Given the description of an element on the screen output the (x, y) to click on. 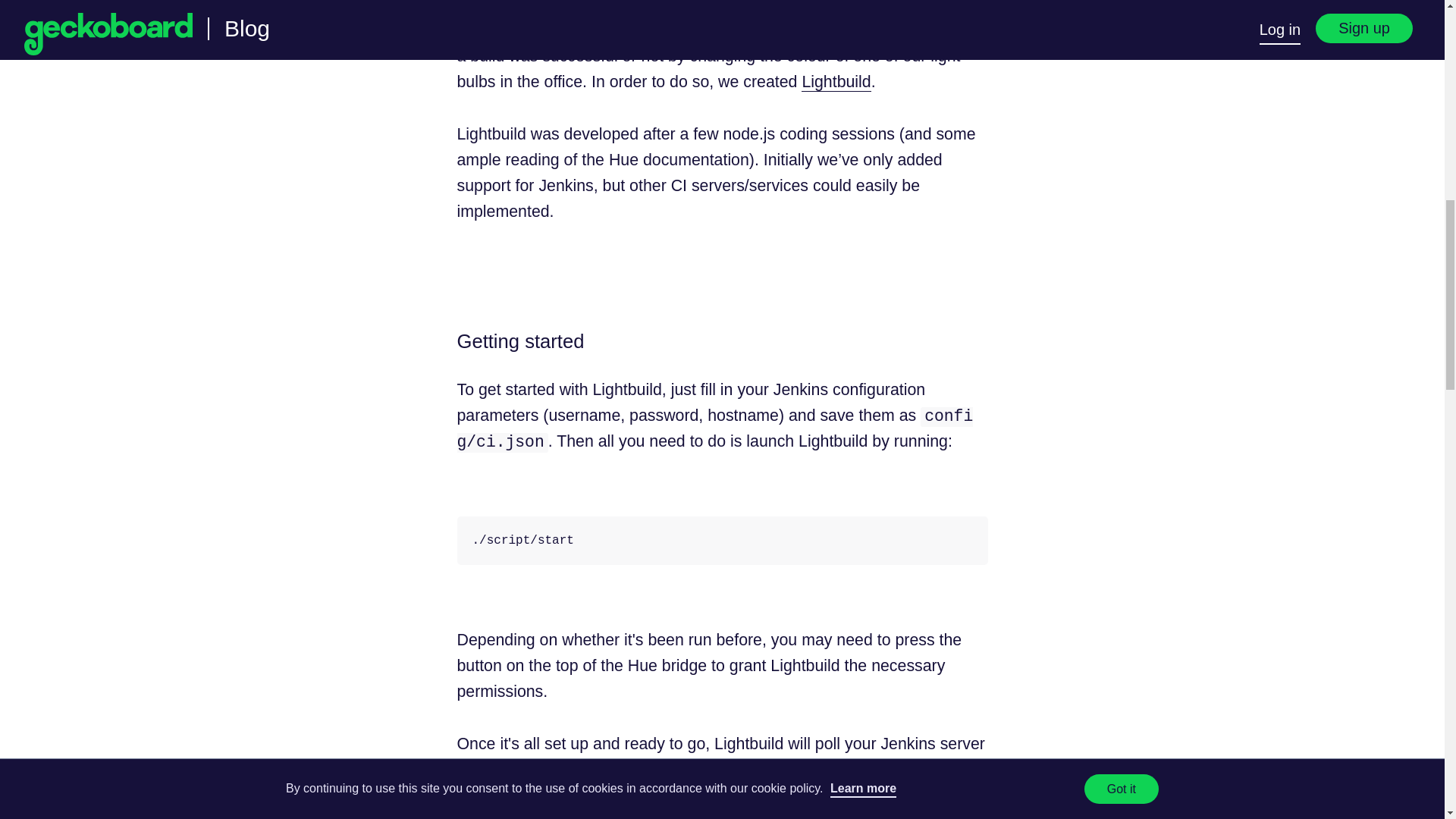
Lightbuild (836, 81)
Continuous Integration (616, 30)
